Given the description of an element on the screen output the (x, y) to click on. 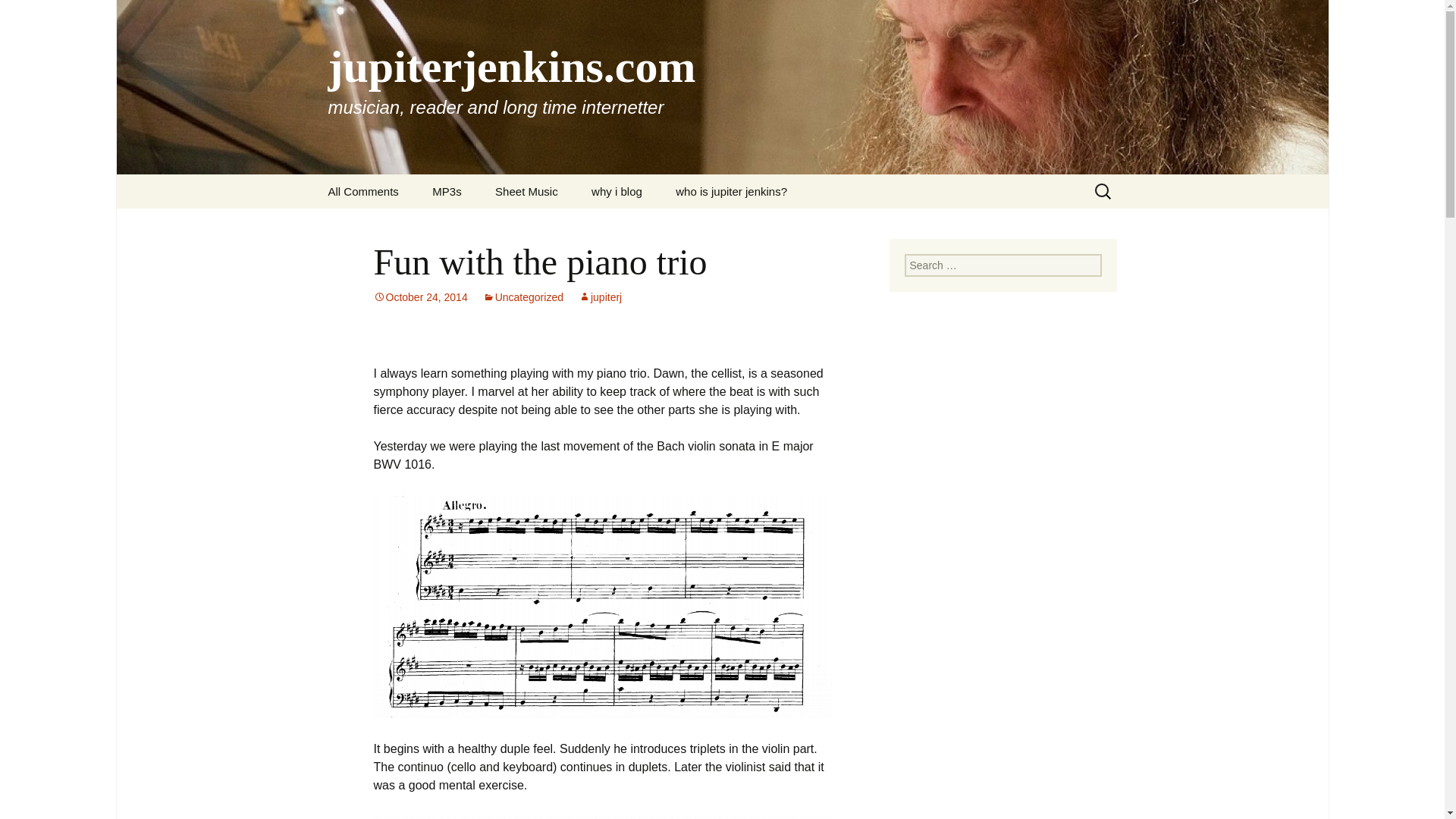
MP3s (446, 191)
Permalink to Fun with the piano trio (419, 297)
Uncategorized (523, 297)
View all posts by jupiterj (599, 297)
Sheet Music (526, 191)
jupiterj (599, 297)
Search (18, 15)
All Comments (363, 191)
Search (34, 15)
October 24, 2014 (419, 297)
why i blog (617, 191)
